Given the description of an element on the screen output the (x, y) to click on. 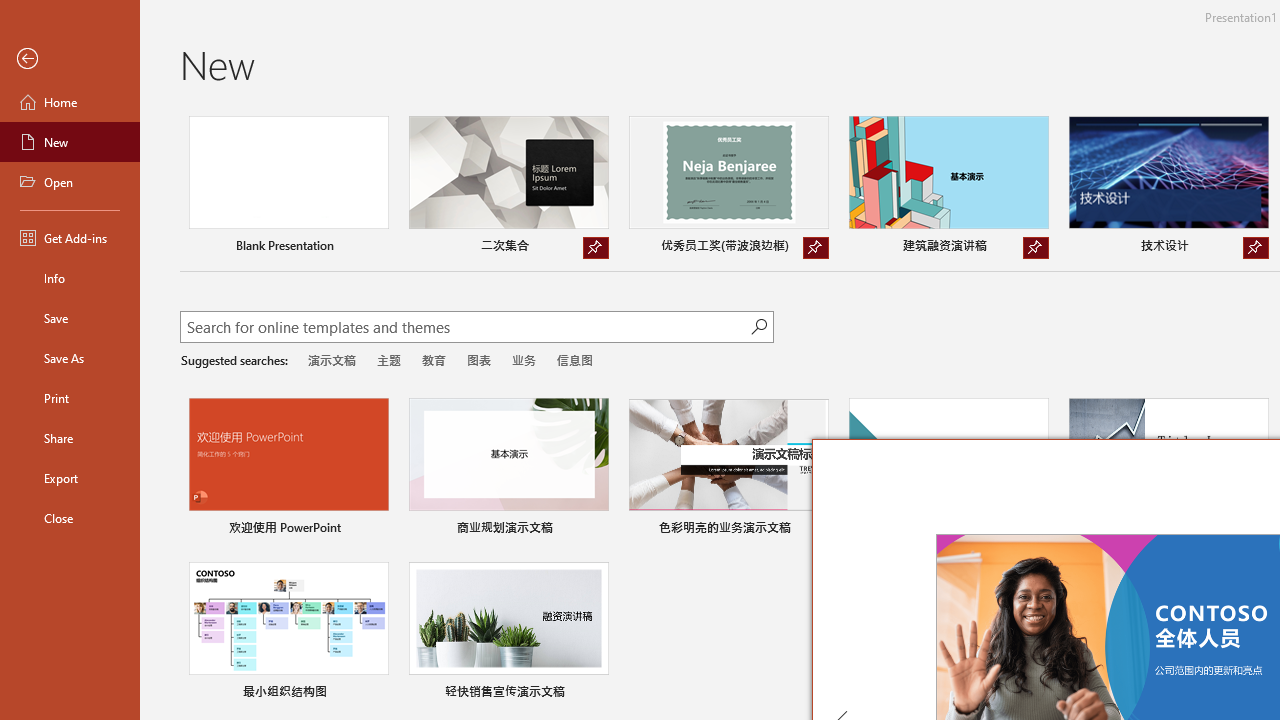
Export (69, 477)
Back (69, 59)
Get Add-ins (69, 237)
Start searching (758, 326)
Search for online templates and themes (465, 329)
Save As (69, 357)
Print (69, 398)
Blank Presentation (288, 187)
New (69, 141)
